Given the description of an element on the screen output the (x, y) to click on. 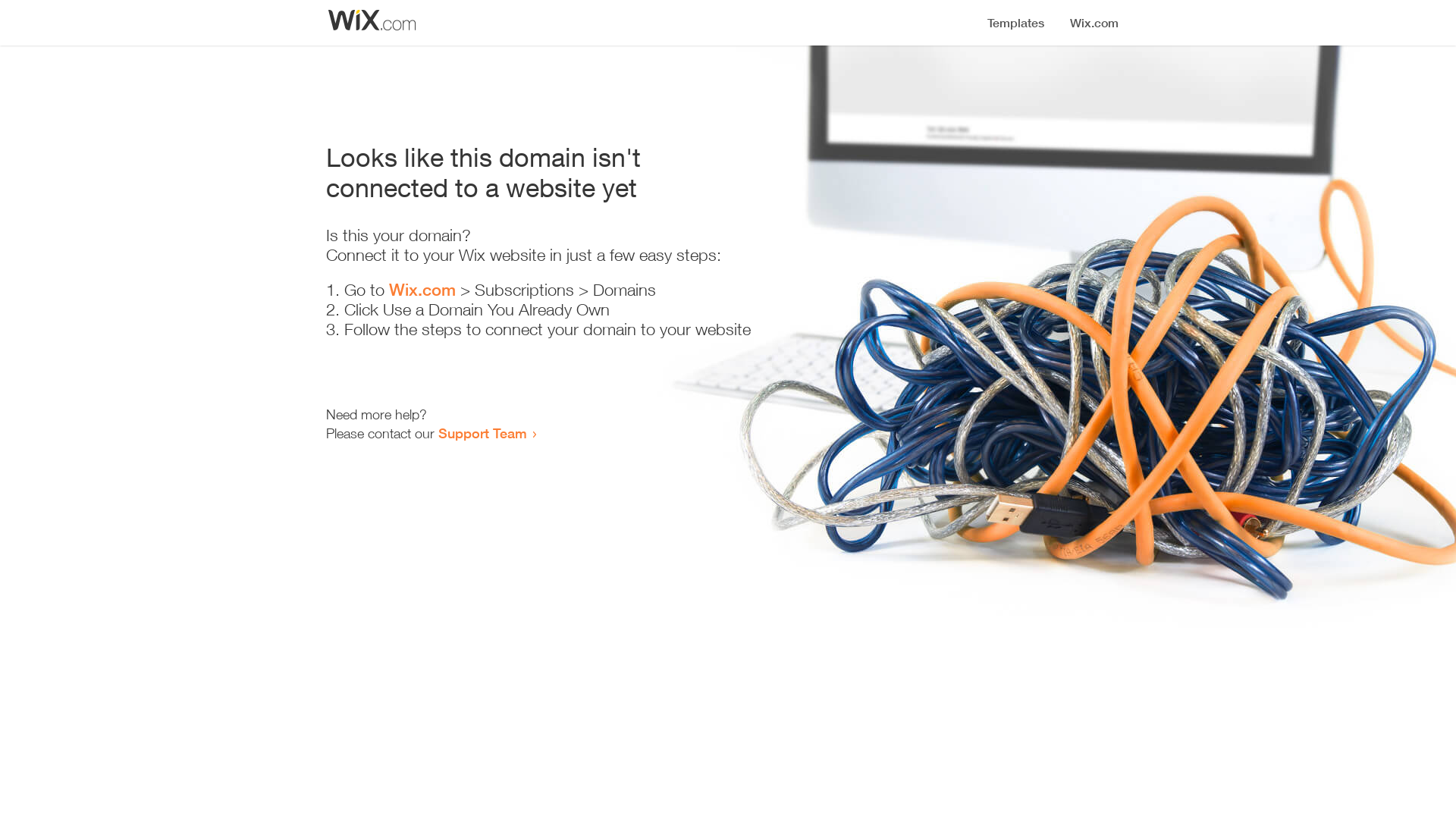
Wix.com Element type: text (422, 289)
Support Team Element type: text (482, 432)
